Given the description of an element on the screen output the (x, y) to click on. 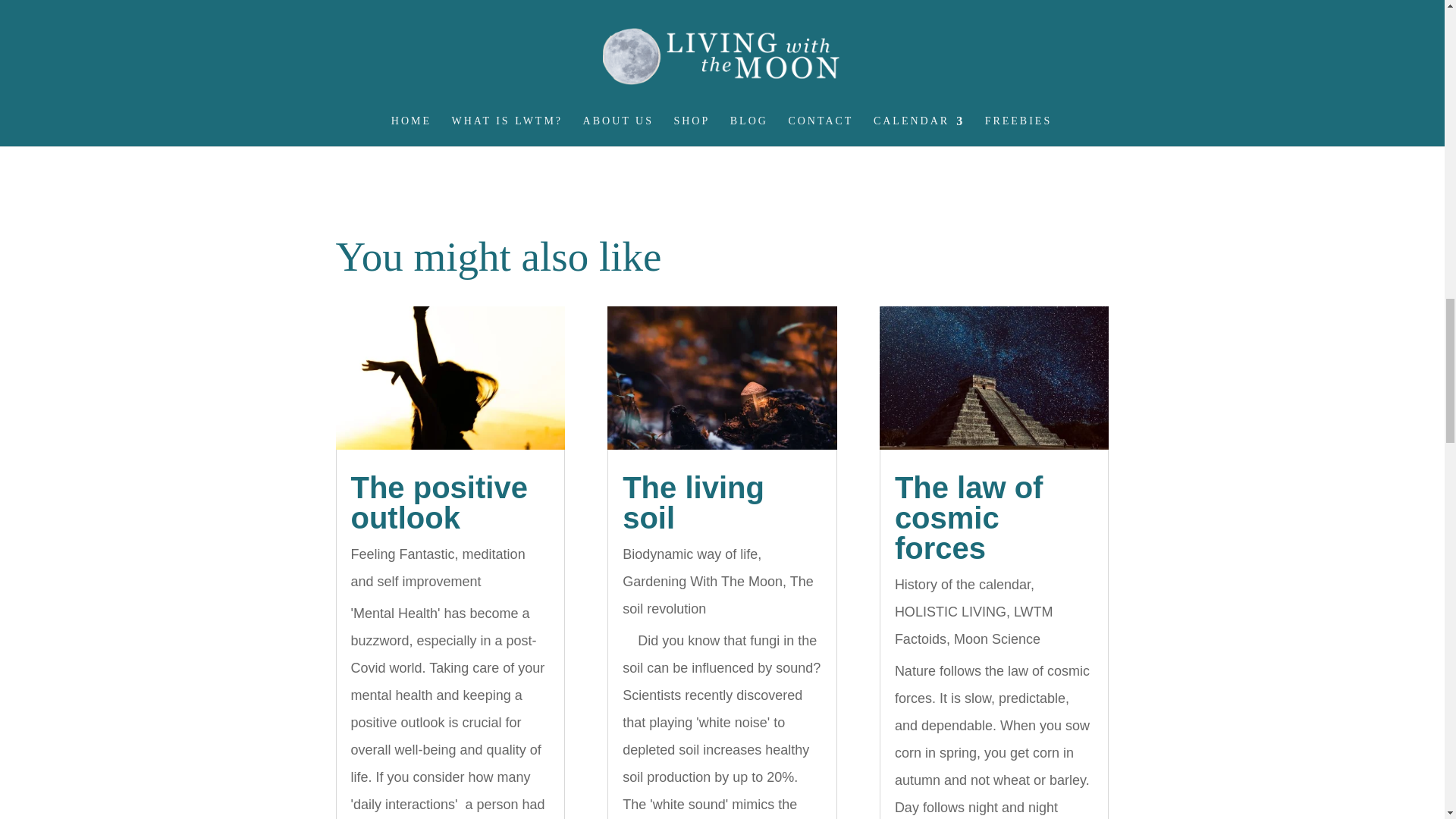
LWTM Factoids (973, 625)
HOLISTIC LIVING (950, 611)
The living soil (693, 502)
History of the calendar (962, 584)
The soil revolution (718, 595)
The law of cosmic forces (969, 517)
Feeling Fantastic (402, 554)
Biodynamic way of life (690, 554)
meditation and self improvement (437, 567)
The positive outlook (438, 502)
